Given the description of an element on the screen output the (x, y) to click on. 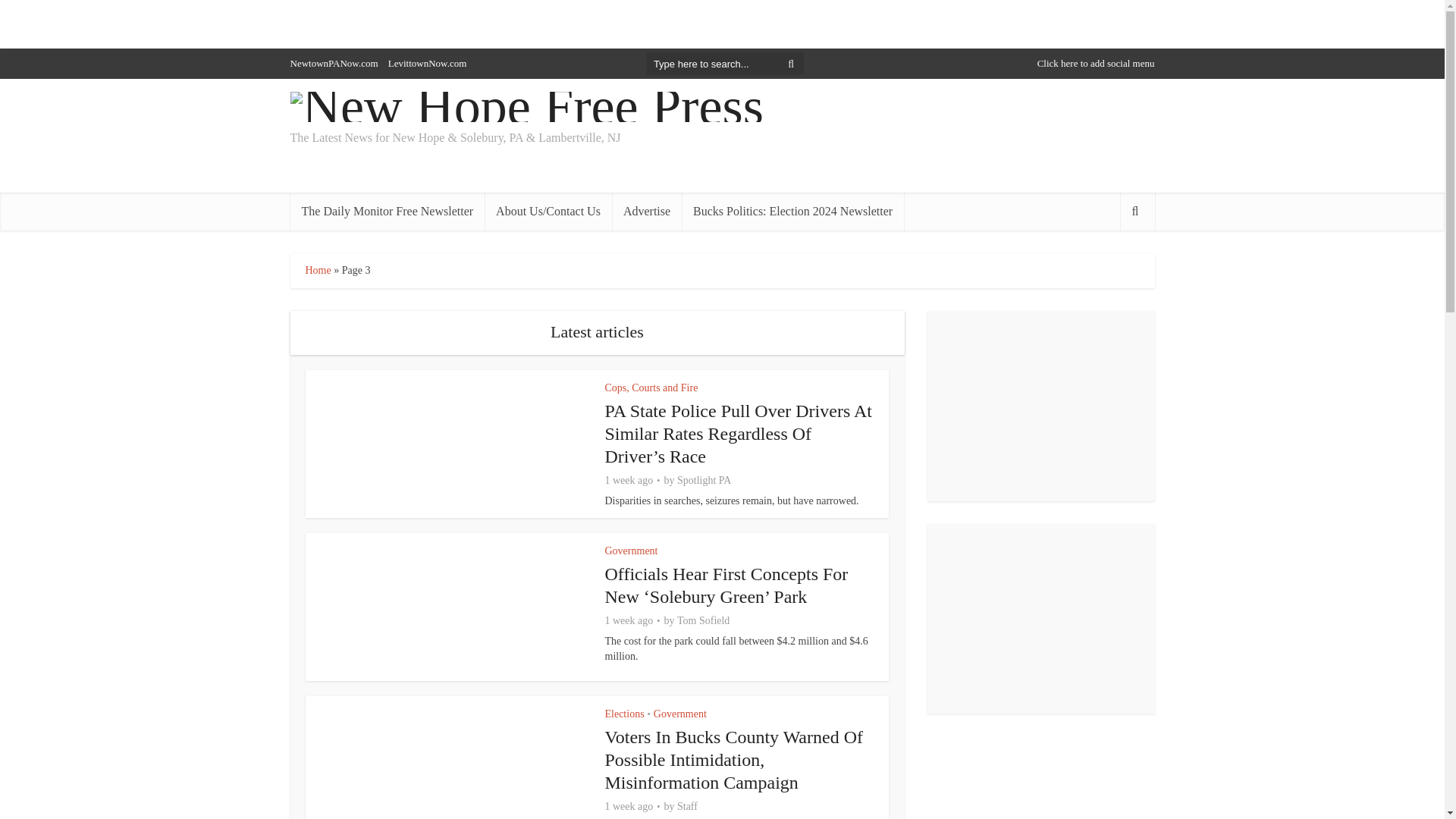
The Daily Monitor Free Newsletter (386, 211)
Staff (687, 807)
Home (317, 270)
Advertise (646, 211)
Government (631, 550)
Spotlight PA (703, 480)
Type here to search... (724, 63)
Bucks Politics: Election 2024 Newsletter (792, 211)
Government (679, 713)
